Given the description of an element on the screen output the (x, y) to click on. 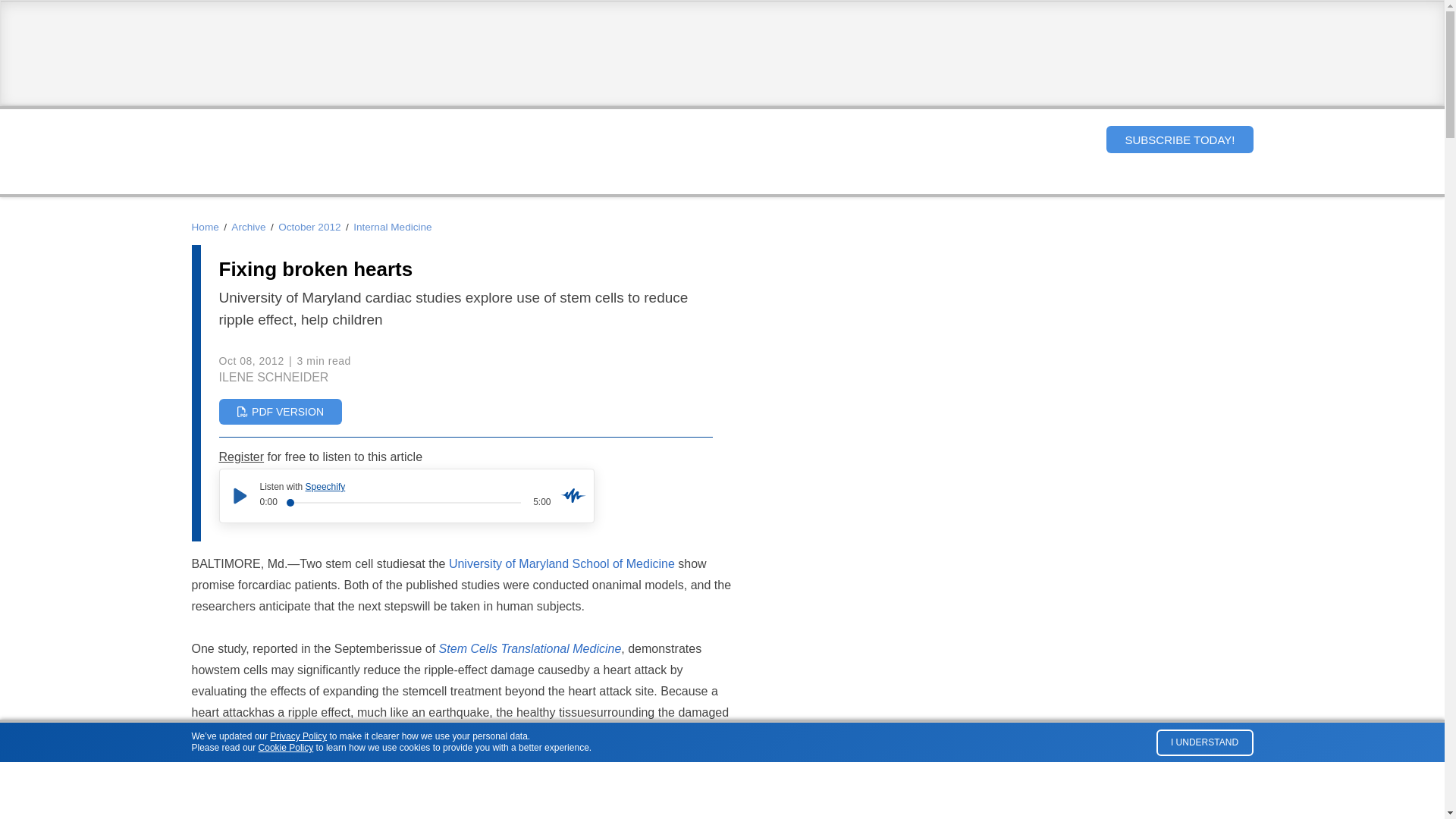
DISEASE FOCUS (665, 179)
Search (1081, 139)
SUBSCRIBE TODAY! (1179, 139)
